Given the description of an element on the screen output the (x, y) to click on. 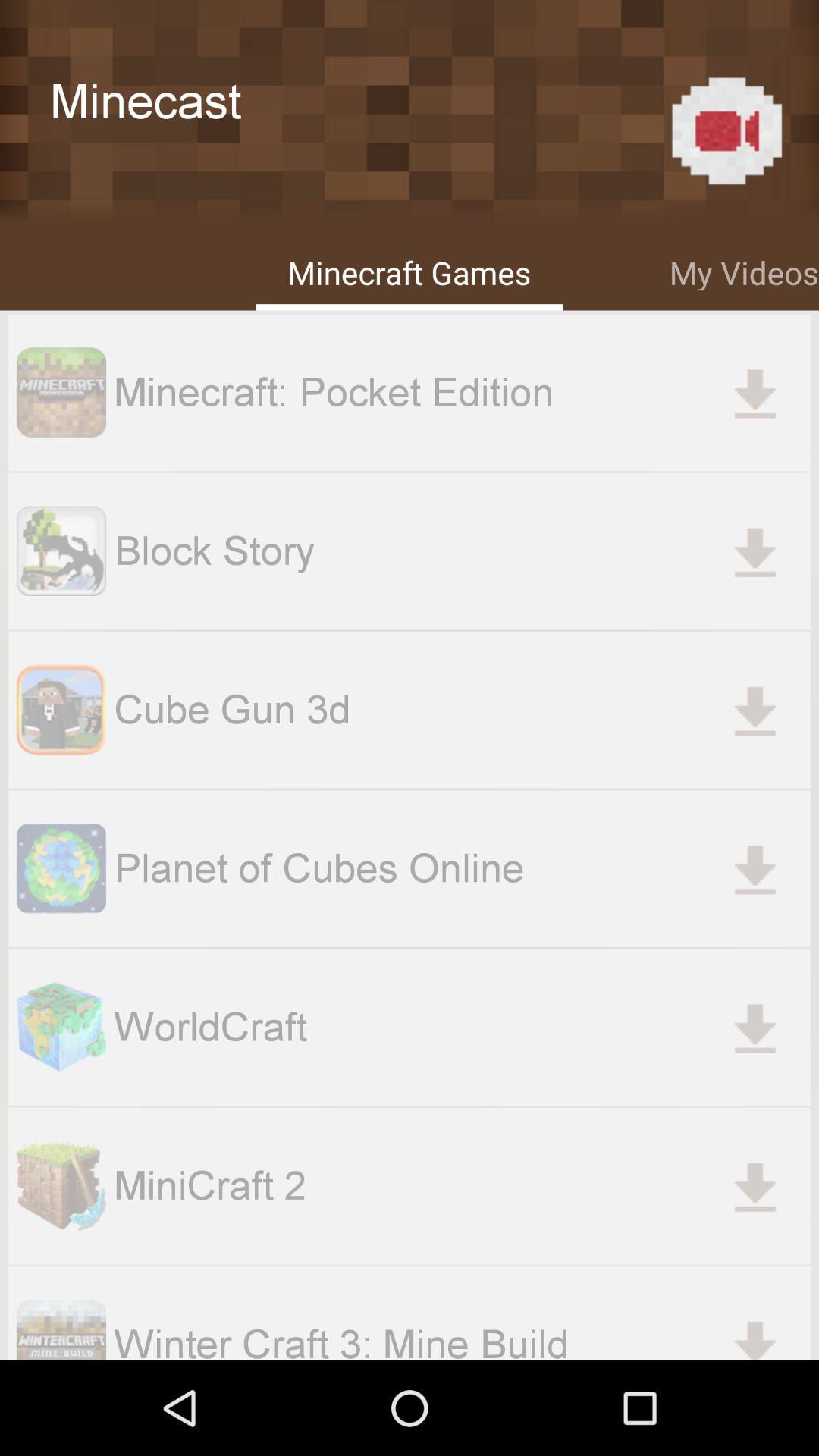
click on the icon above my videos (726, 129)
go to the cube gun 3d icon (61, 709)
select image to the left of minicraft 2 (61, 1185)
click on icon at bottom right corner (754, 1331)
click on the image beside planet of cubes online (61, 869)
select my videos at the top right corner (744, 269)
